Given the description of an element on the screen output the (x, y) to click on. 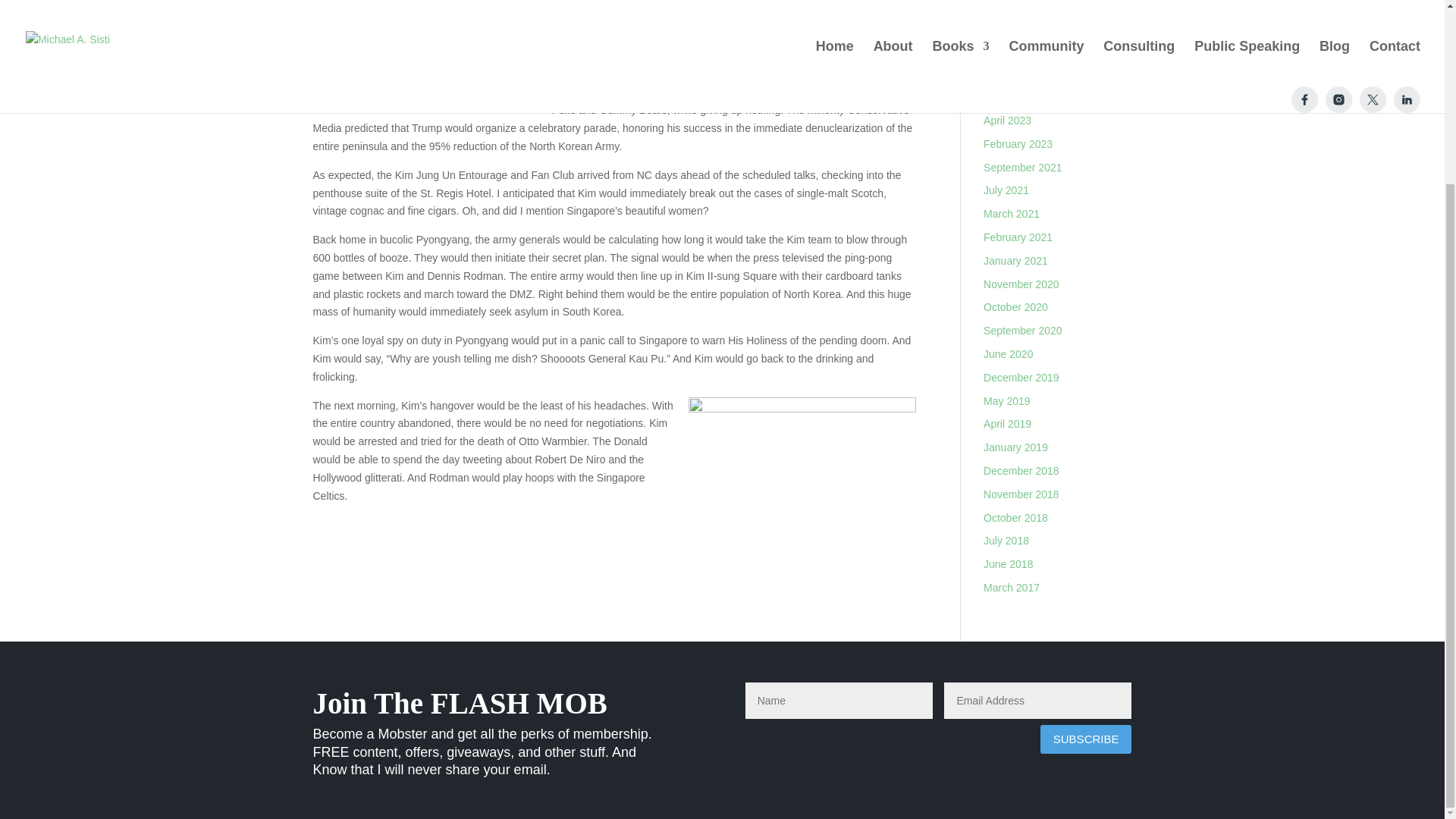
March 2021 (1011, 214)
A Woman Named Rose (1039, 29)
September 2021 (1023, 167)
January 2021 (1016, 260)
February 2021 (1018, 236)
Mental Toughness (1026, 6)
February 2023 (1018, 143)
July 2021 (1006, 190)
April 2023 (1007, 120)
